Given the description of an element on the screen output the (x, y) to click on. 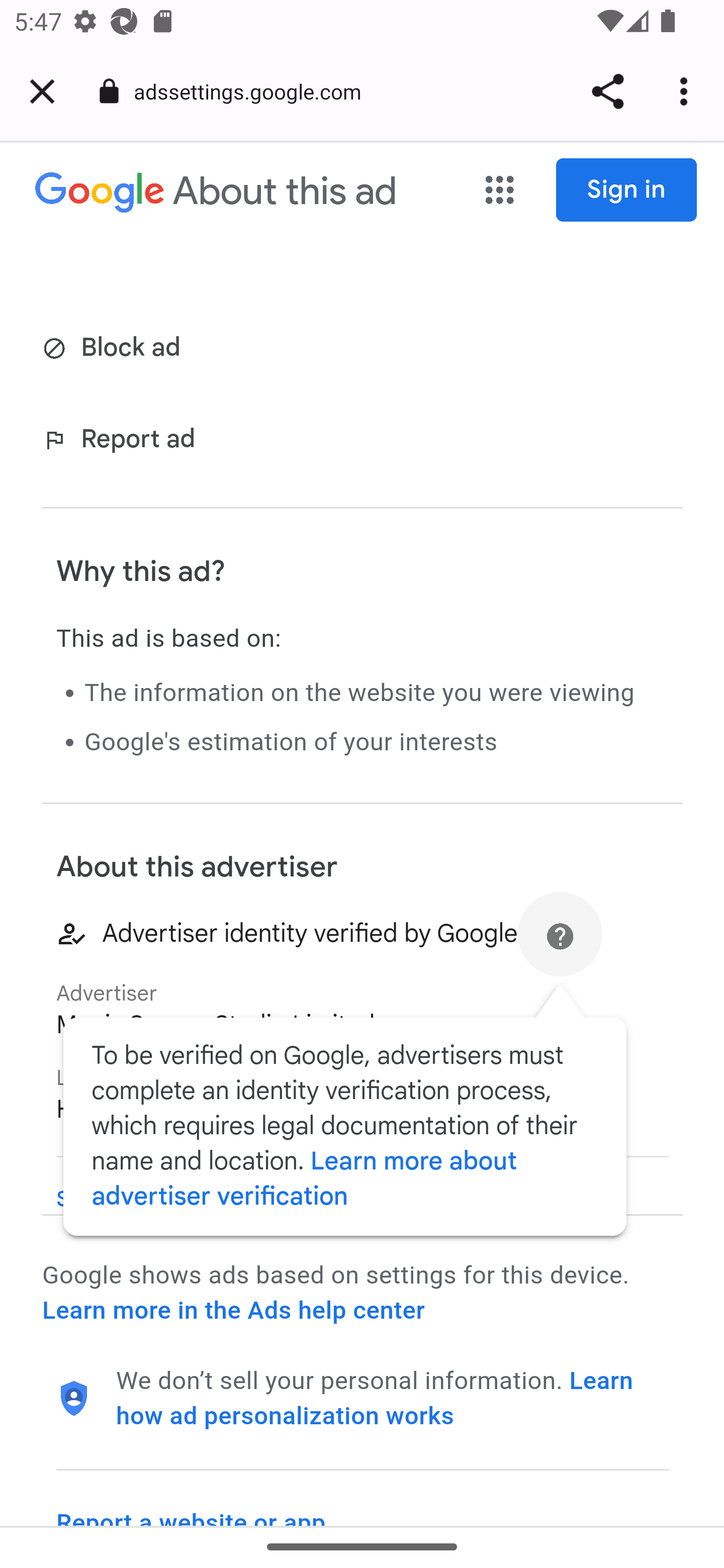
Close tab (42, 91)
Share (607, 91)
More options (687, 91)
Connection is secure (108, 91)
adssettings.google.com (254, 90)
Google apps (499, 191)
Sign in (627, 190)
Block ad (114, 348)
Report ad (opens in new tab) Report ad (122, 440)
Learn more in the Ads help center (233, 1310)
Learn how ad personalization works (374, 1398)
